Given the description of an element on the screen output the (x, y) to click on. 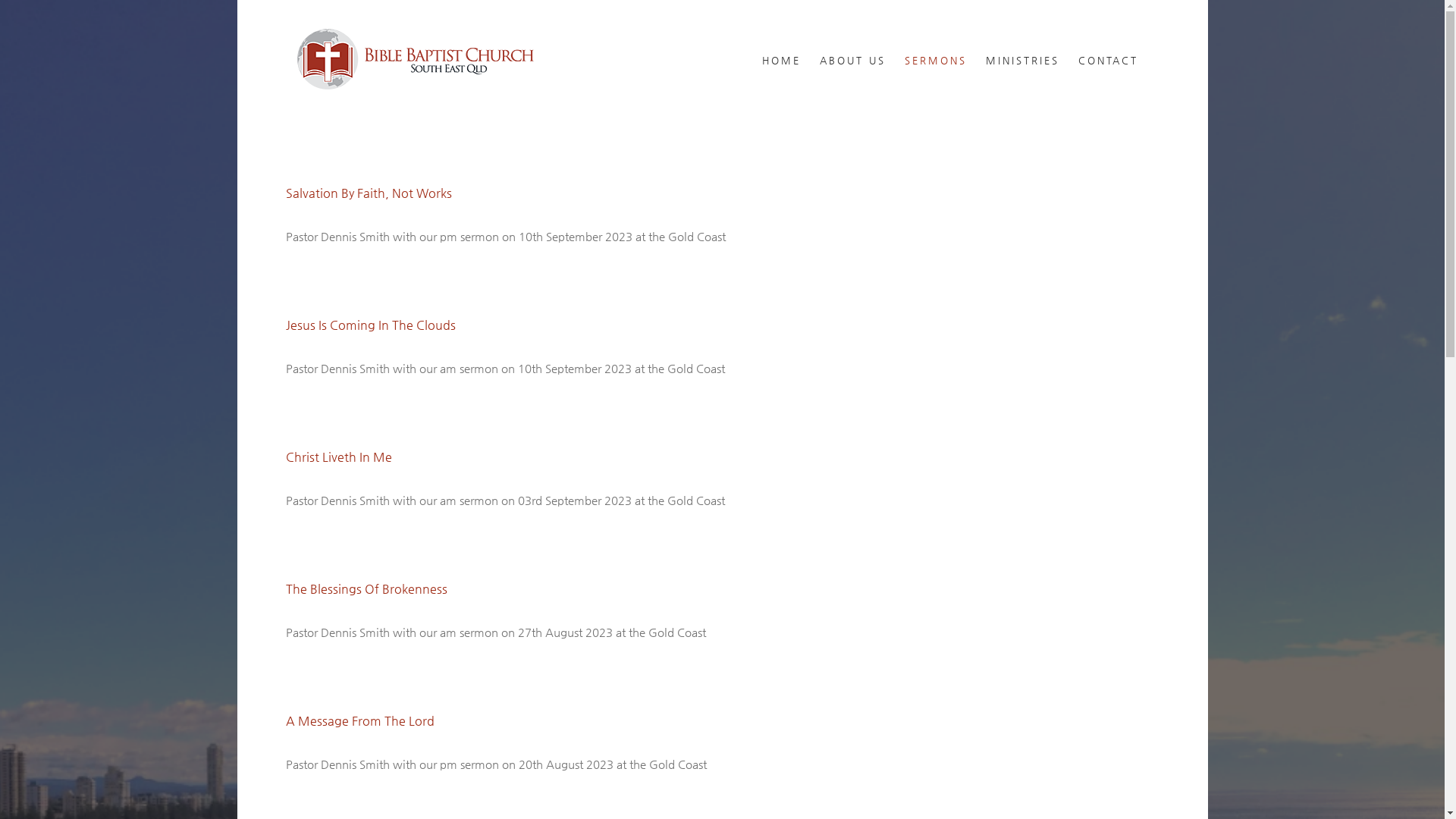
ABOUT US Element type: text (852, 59)
SERMONS Element type: text (935, 59)
CONTACT Element type: text (1108, 59)
Salvation By Faith, Not Works Element type: text (368, 192)
Jesus Is Coming In The Clouds Element type: text (370, 324)
A Message From The Lord Element type: text (359, 720)
Christ Liveth In Me Element type: text (338, 456)
The Blessings Of Brokenness Element type: text (365, 588)
MINISTRIES Element type: text (1022, 59)
HOME Element type: text (781, 59)
